Given the description of an element on the screen output the (x, y) to click on. 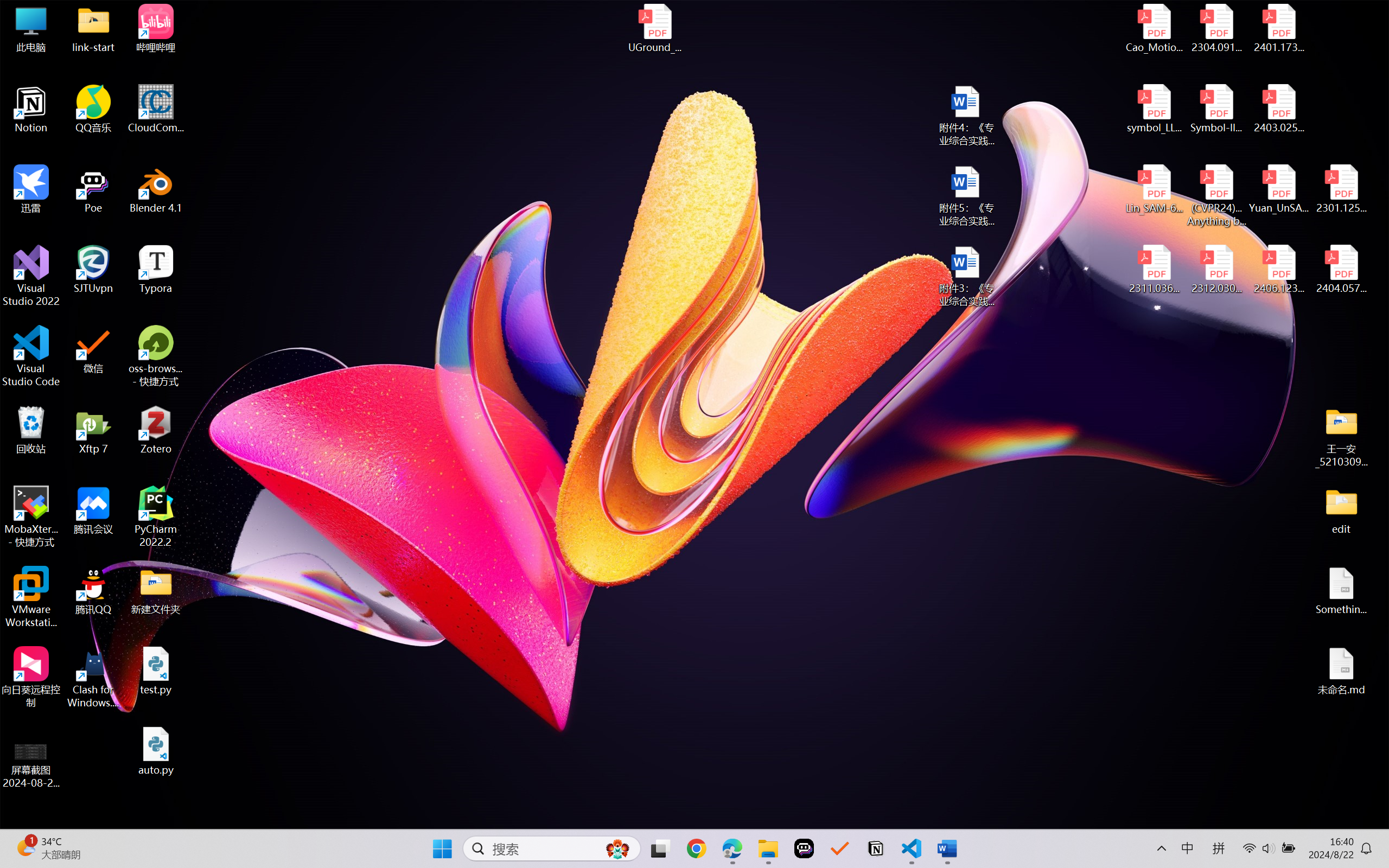
test.py (156, 670)
edit (1340, 510)
(CVPR24)Matching Anything by Segmenting Anything.pdf (1216, 195)
SJTUvpn (93, 269)
Poe (804, 848)
2304.09121v3.pdf (1216, 28)
